Given the description of an element on the screen output the (x, y) to click on. 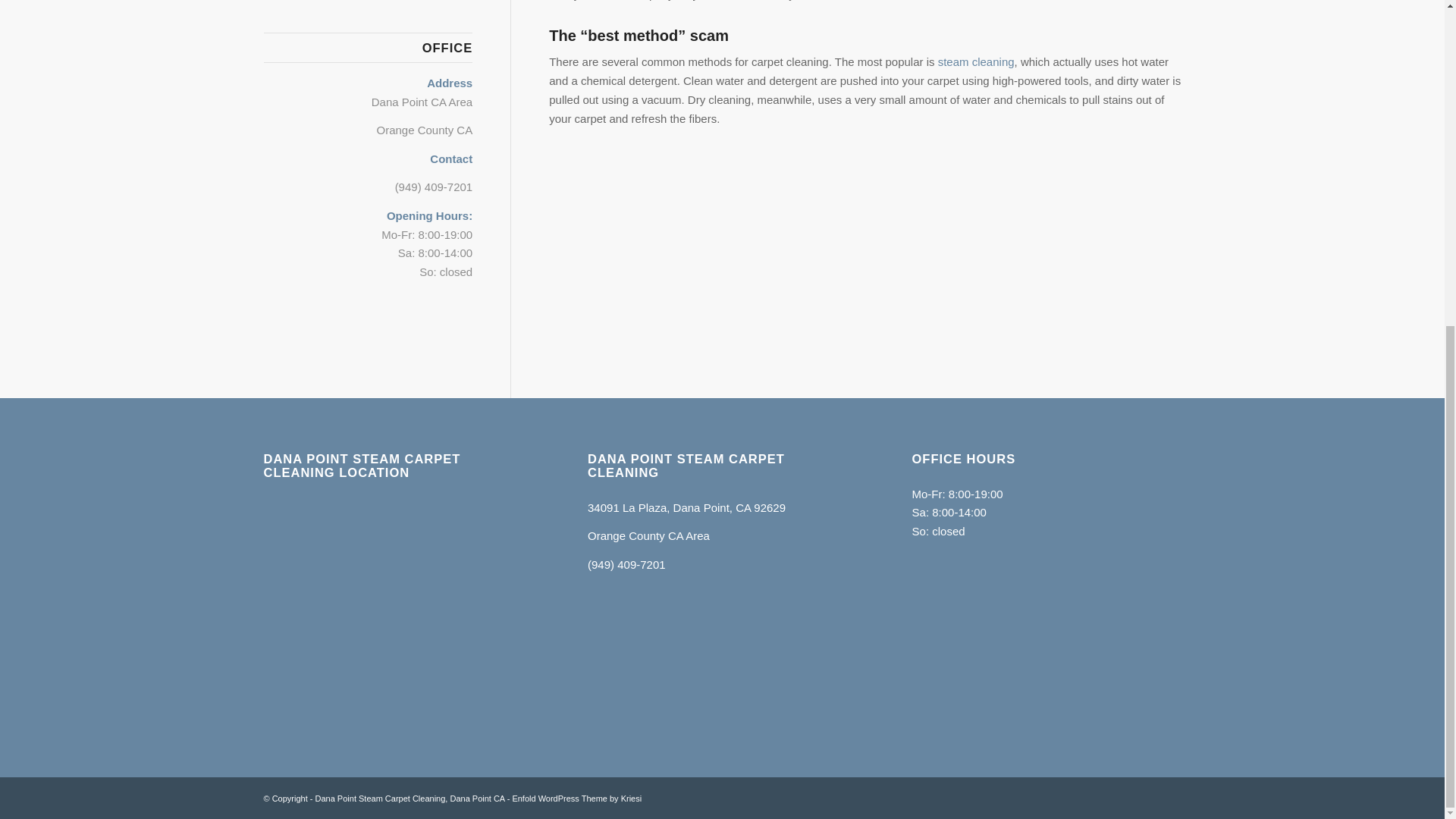
Enfold WordPress Theme by Kriesi (577, 798)
Dana Point Steam Carpet Cleaning, Dana Point CA (410, 798)
steam cleaning (975, 61)
